Given the description of an element on the screen output the (x, y) to click on. 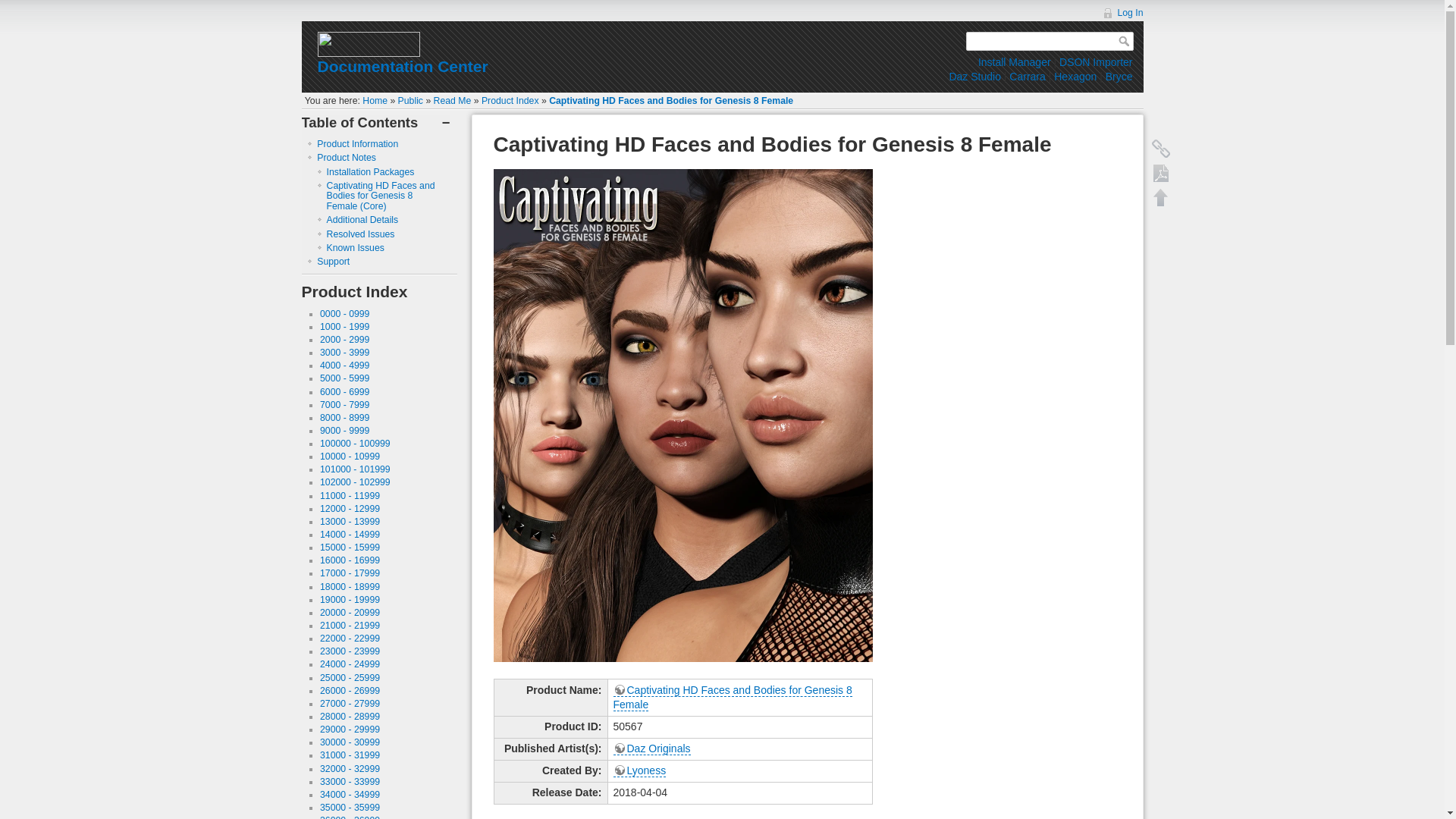
Public (410, 100)
Bryce (1118, 76)
Home (374, 100)
7000 - 7999 (344, 404)
Captivating HD Faces and Bodies for Genesis 8 Female (670, 100)
public:software:bryce:start (1118, 76)
public:software:dazstudio:start (974, 76)
101000 - 101999 (355, 469)
2000 - 2999 (344, 339)
0000 - 0999 (344, 313)
public:software:hexagon:start (1075, 76)
1000 - 1999 (344, 326)
Hexagon (1075, 76)
100000 - 100999 (355, 443)
Product Notes (346, 157)
